Given the description of an element on the screen output the (x, y) to click on. 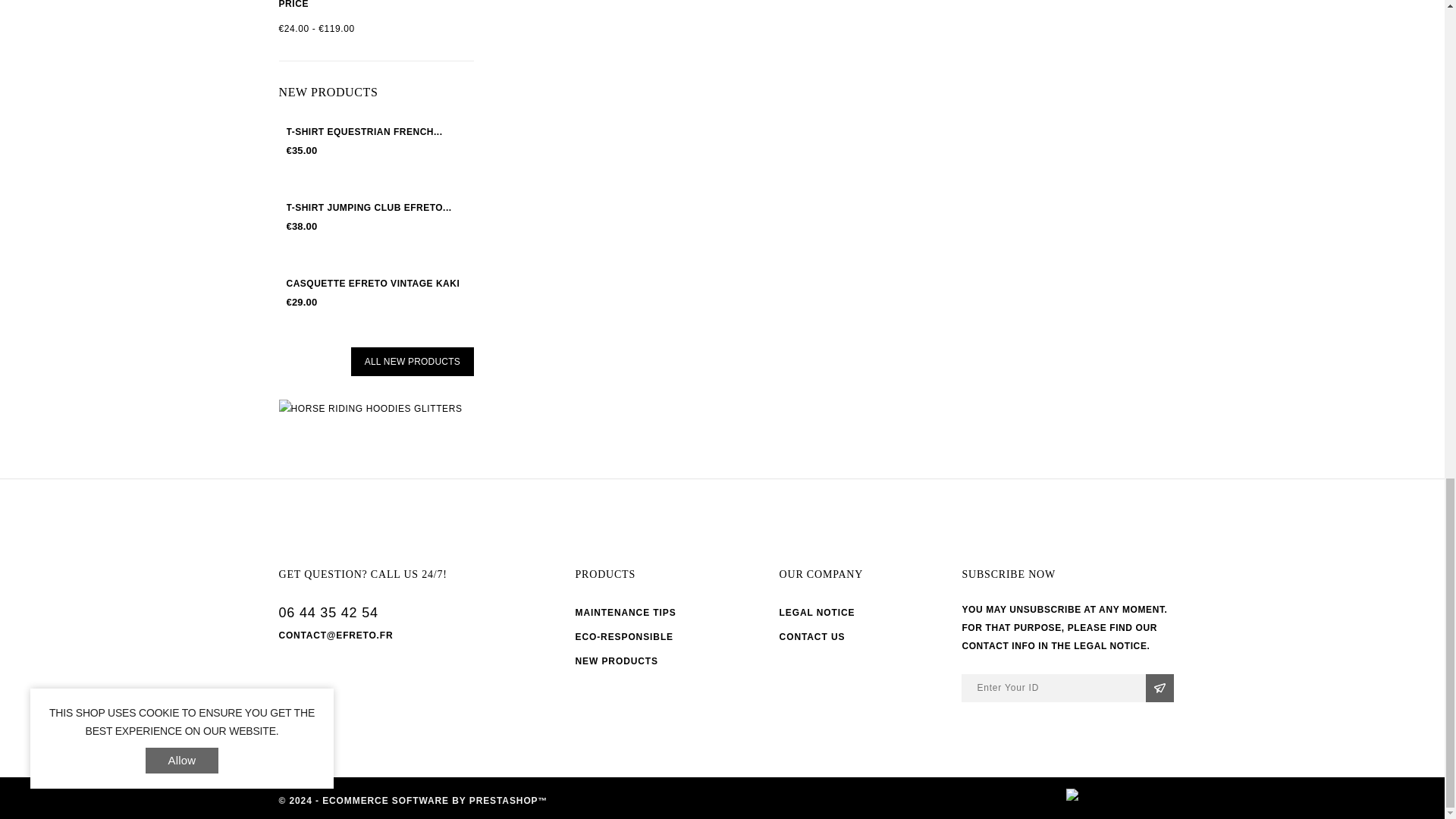
Horse Riding Hoodies glitters (376, 407)
Subscribe (1159, 687)
Horse Riding Hoodies glitters (371, 408)
